Given the description of an element on the screen output the (x, y) to click on. 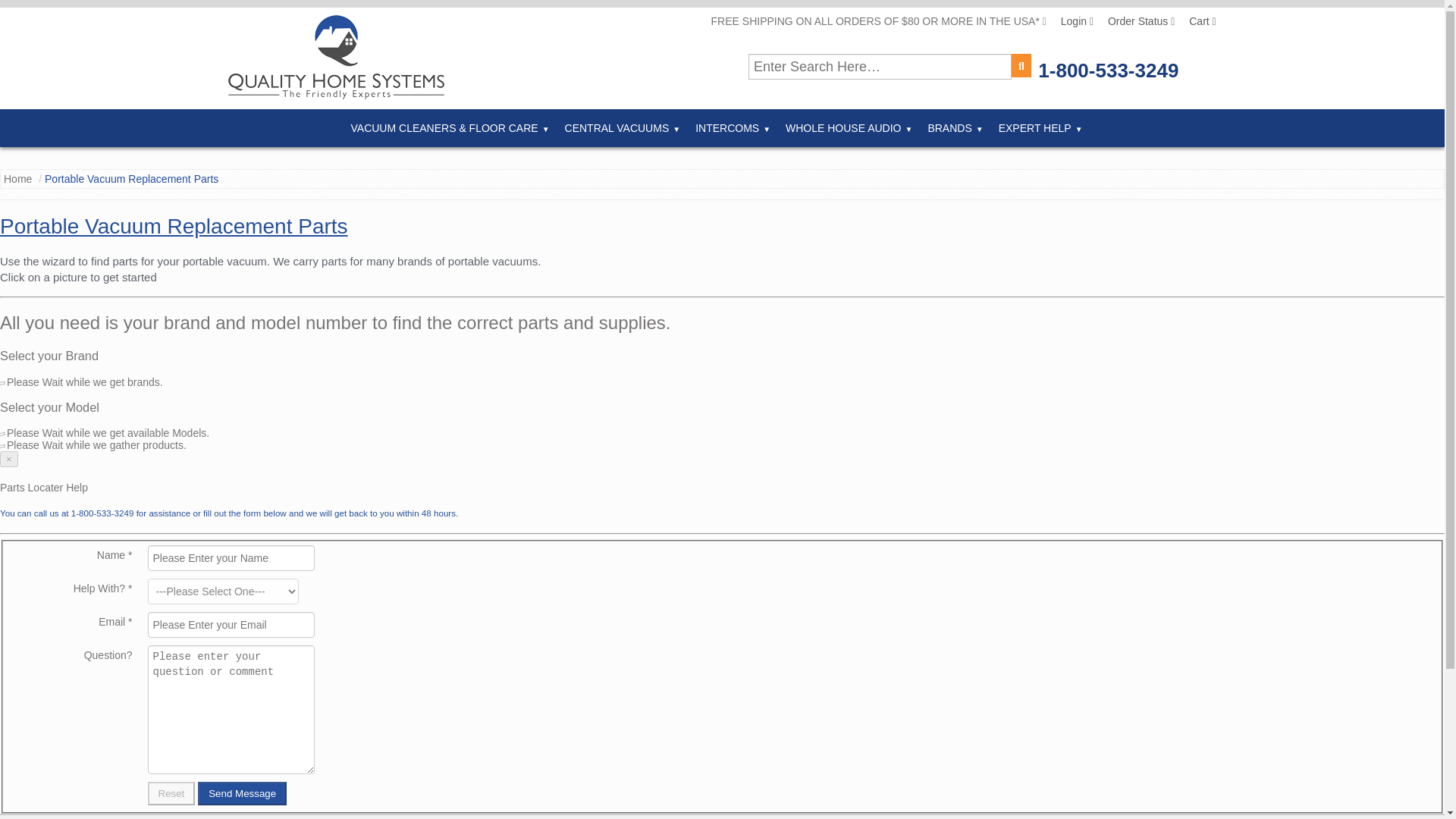
Reset (171, 793)
Cart (1196, 21)
Login (1071, 21)
CENTRAL VACUUMS (622, 127)
Send Message (242, 793)
Order Status (1135, 21)
1-800-533-3249 (1107, 70)
INTERCOMS (732, 127)
